Given the description of an element on the screen output the (x, y) to click on. 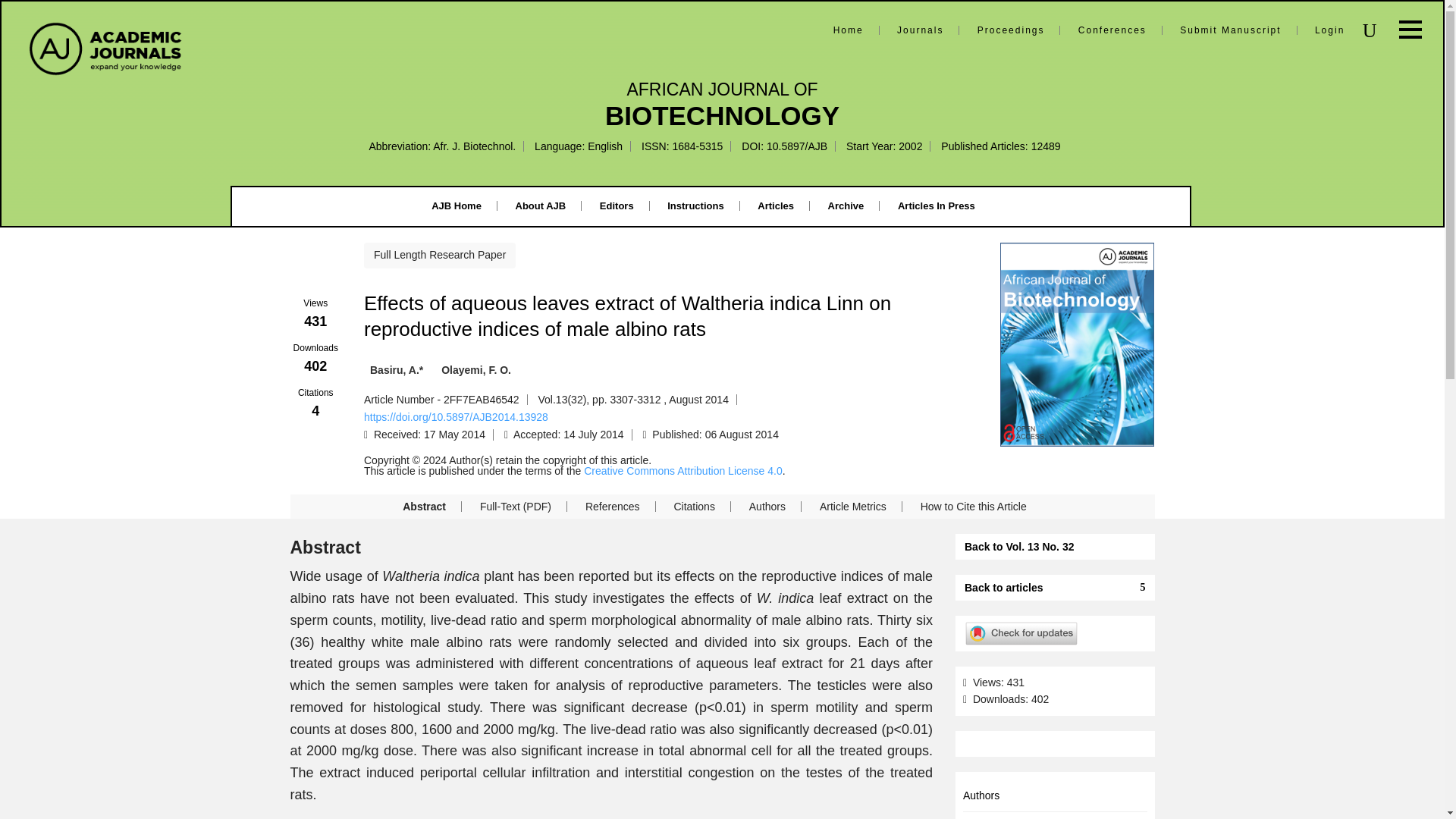
AJB Home (455, 205)
Instructions for Authors (694, 205)
About Journal (540, 205)
Articles in Press (936, 205)
Editors (616, 205)
Articles (775, 205)
CrossRef Citations (315, 403)
Archive (846, 205)
